Given the description of an element on the screen output the (x, y) to click on. 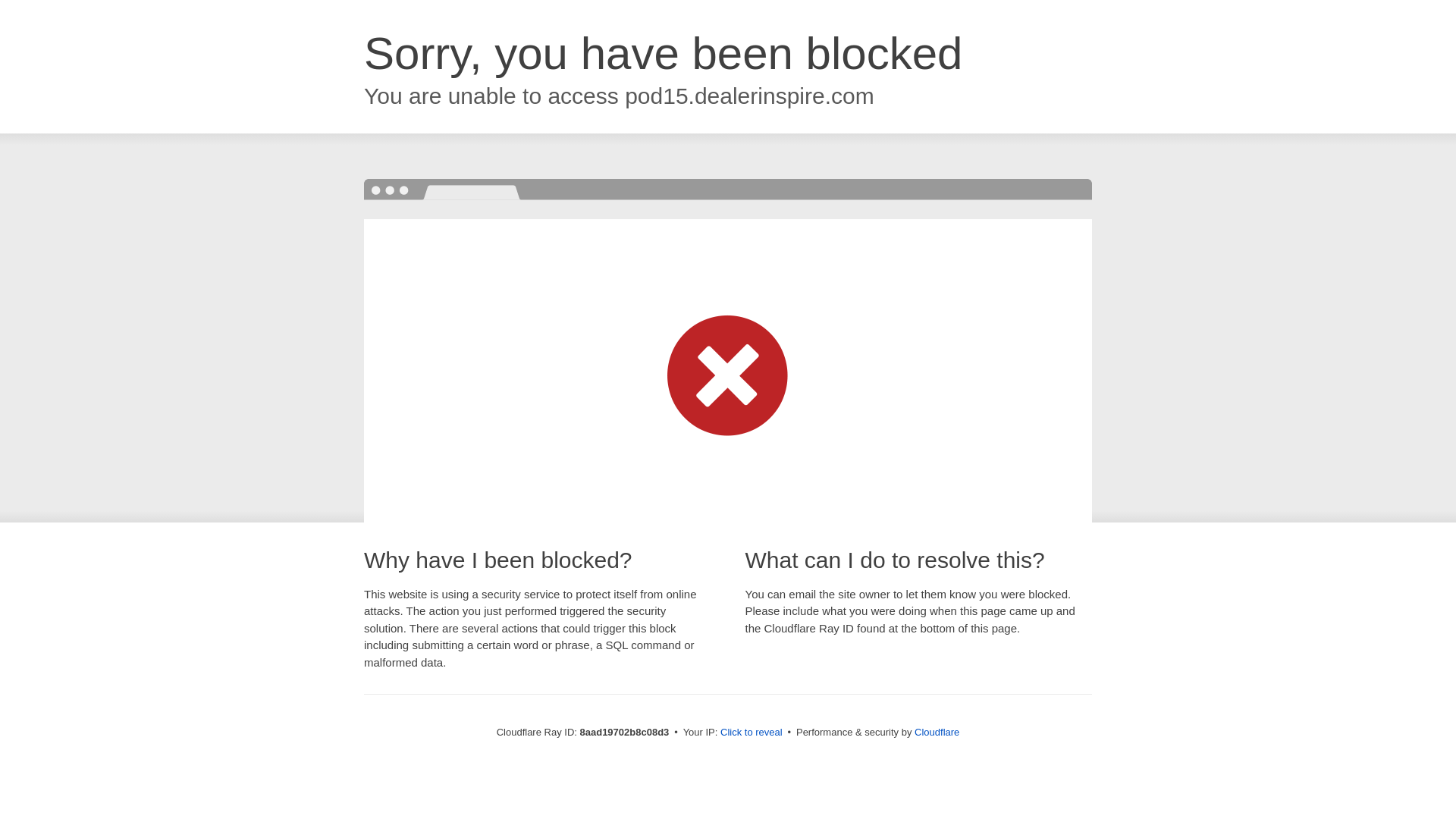
Click to reveal (751, 732)
Cloudflare (936, 731)
